Given the description of an element on the screen output the (x, y) to click on. 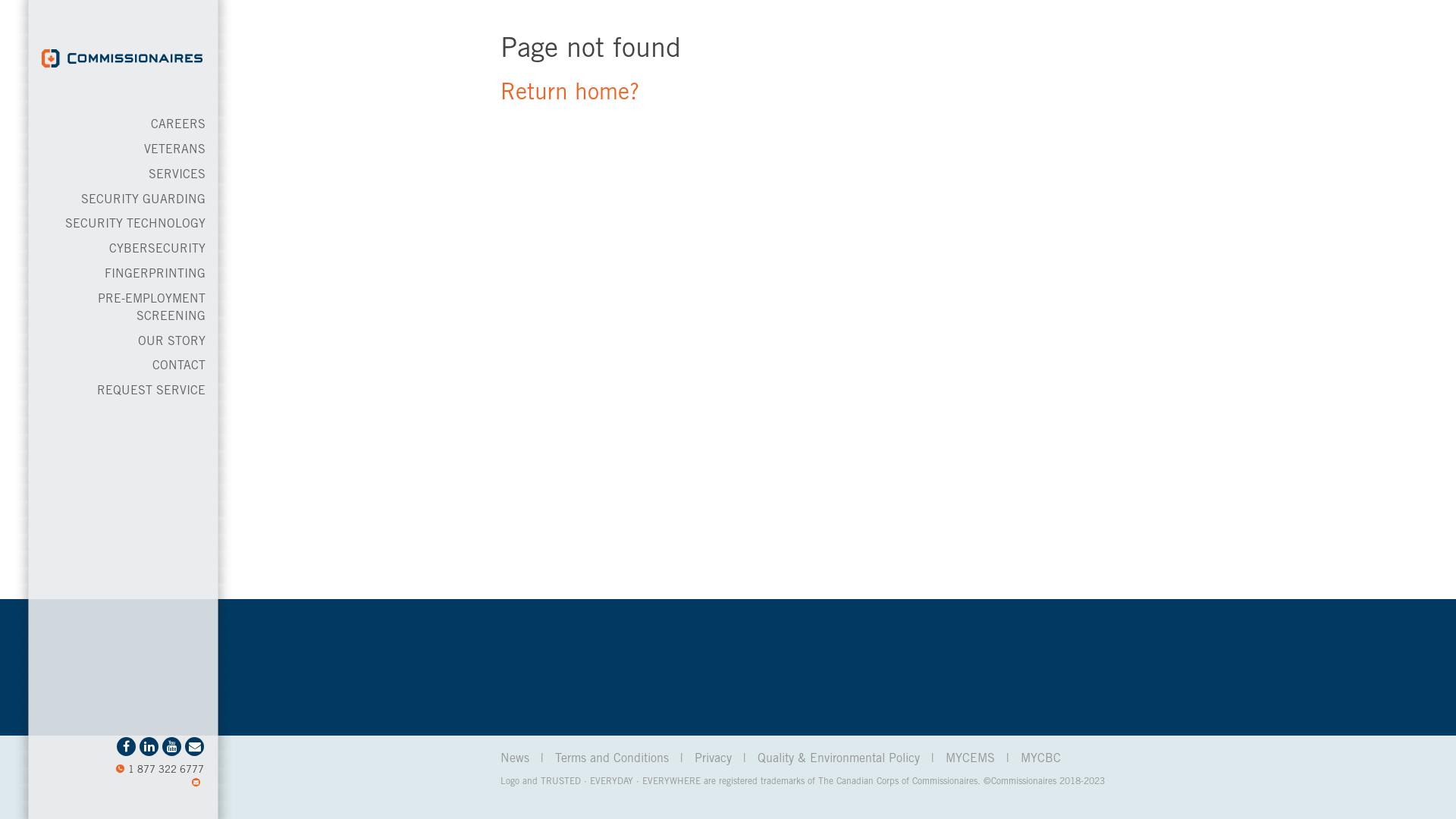
SECURITY TECHNOLOGY Element type: text (135, 224)
Terms and Conditions Element type: text (611, 759)
PRE-EMPLOYMENT SCREENING Element type: text (151, 307)
VETERANS Element type: text (174, 149)
CONTACT Element type: text (178, 365)
MYCEMS Element type: text (969, 759)
REQUEST SERVICE Element type: text (151, 390)
MYCBC Element type: text (1040, 759)
Return home? Element type: text (569, 93)
SERVICES Element type: text (176, 174)
CYBERSECURITY Element type: text (157, 249)
OUR STORY Element type: text (171, 341)
CAREERS Element type: text (177, 124)
SECURITY GUARDING Element type: text (143, 199)
FINGERPRINTING Element type: text (154, 274)
Privacy Element type: text (712, 759)
News Element type: text (514, 759)
Quality & Environmental Policy Element type: text (838, 759)
